Given the description of an element on the screen output the (x, y) to click on. 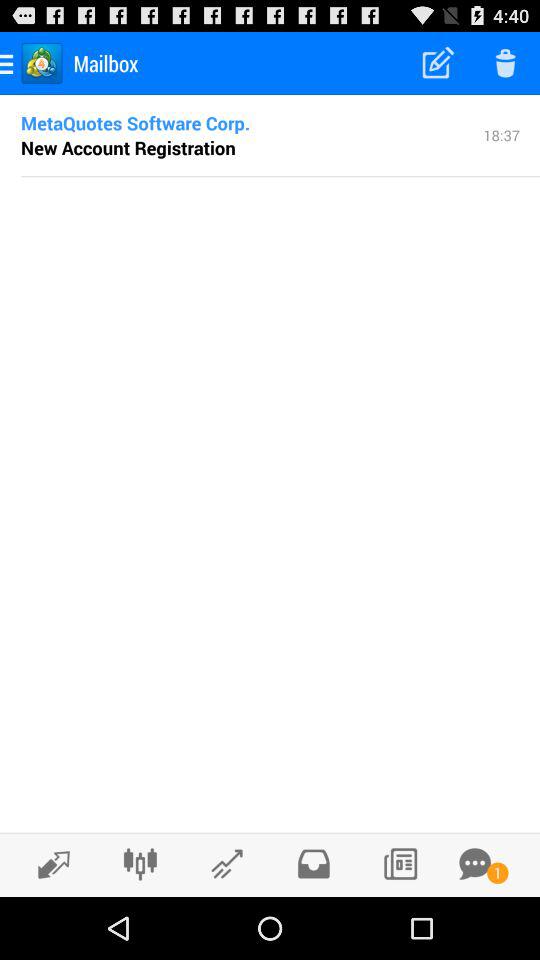
open icon below 18:37 icon (280, 176)
